Given the description of an element on the screen output the (x, y) to click on. 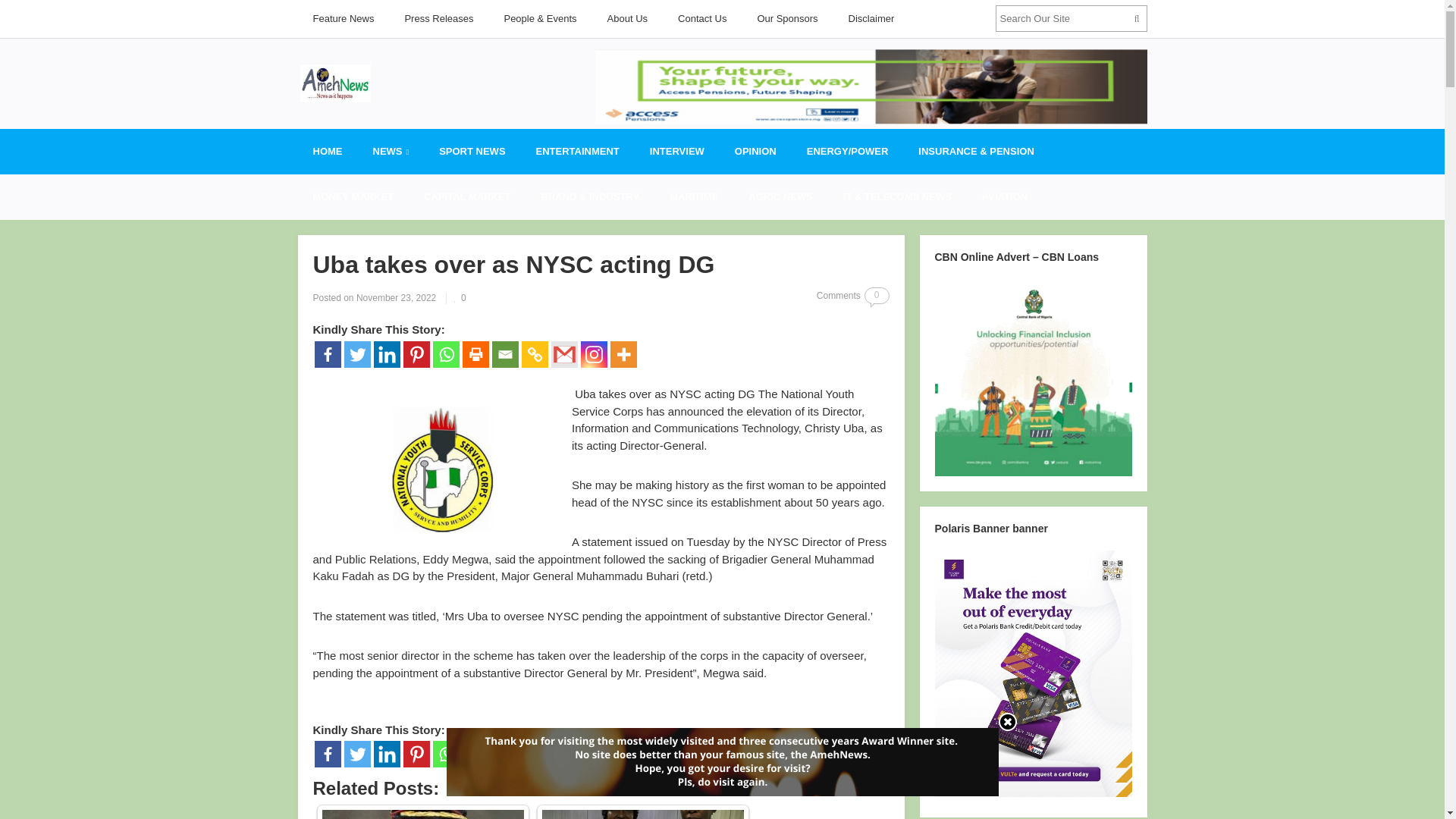
Twitter (357, 354)
More (623, 354)
Contact Us (701, 18)
Feature News (342, 18)
Instagram (593, 354)
Copy Link (534, 354)
Pinterest (416, 354)
Whatsapp (445, 354)
Like this (459, 297)
Mega Menu (391, 151)
Facebook (327, 754)
Press Releases (437, 18)
Our Sponsors (786, 18)
Google Gmail (563, 354)
HOME (326, 151)
